Given the description of an element on the screen output the (x, y) to click on. 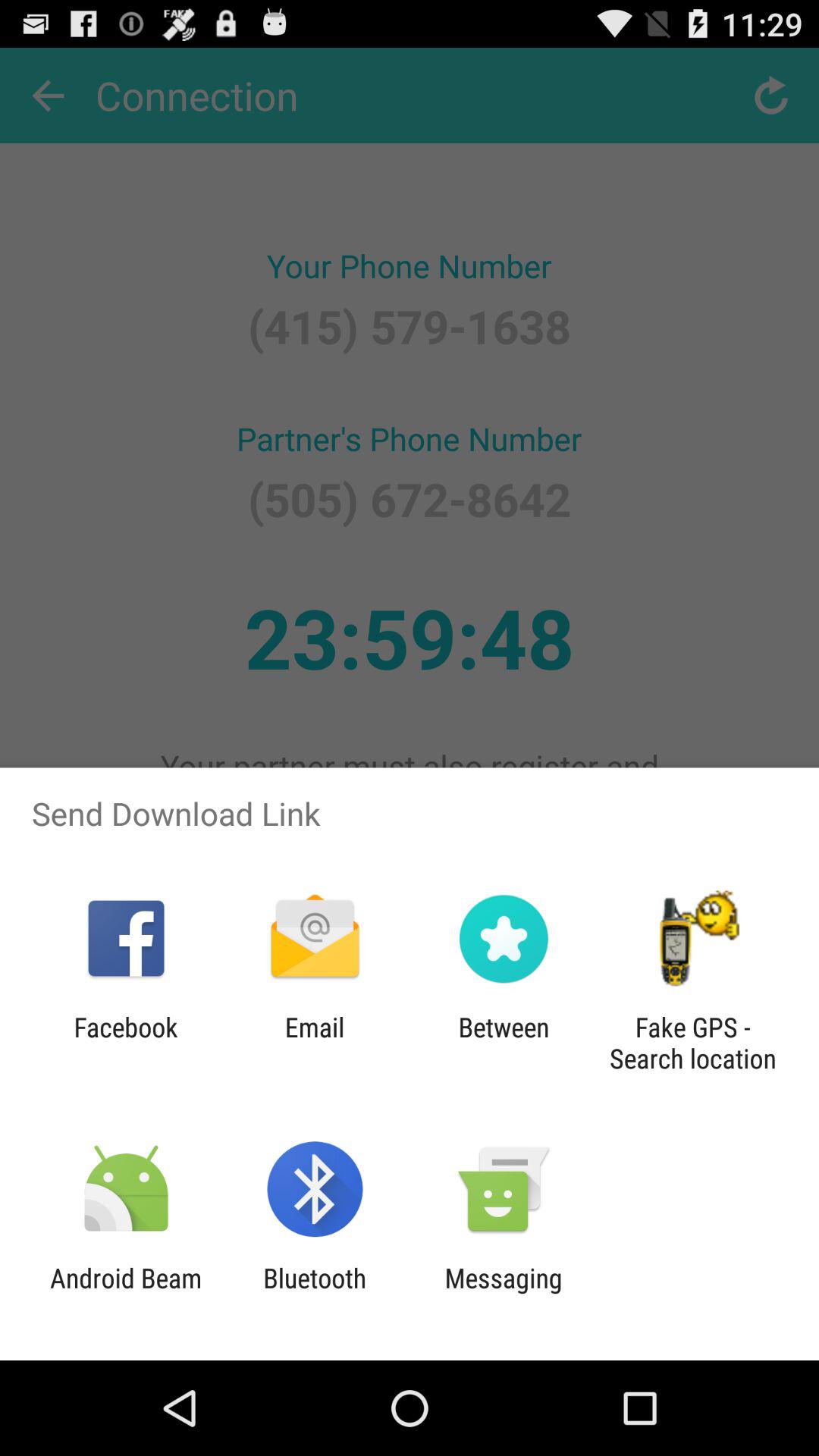
select the item at the bottom right corner (692, 1042)
